Given the description of an element on the screen output the (x, y) to click on. 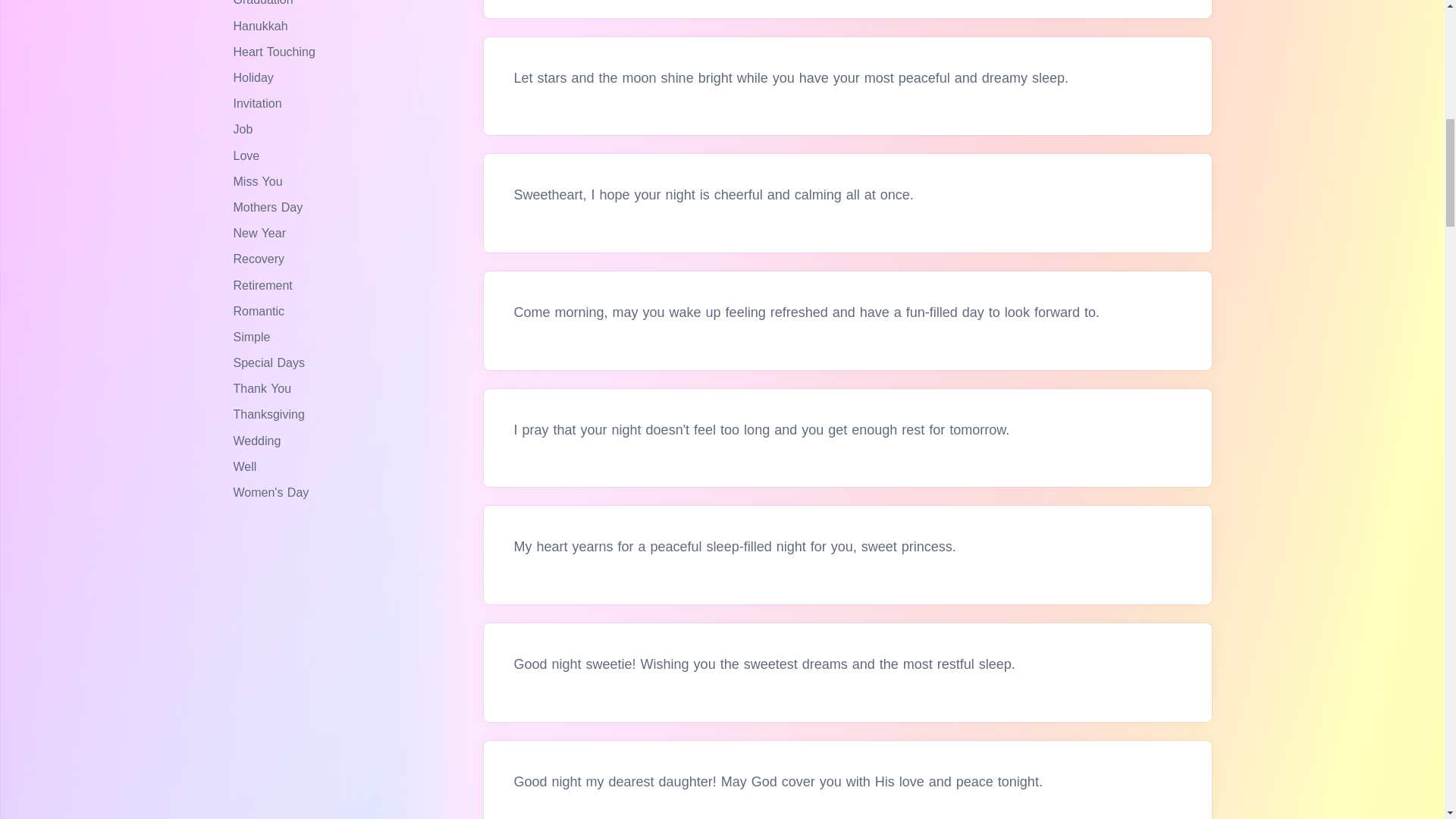
Job (244, 128)
Romantic (260, 310)
Graduation (264, 2)
Retirement (264, 285)
Mothers Day (269, 206)
Recovery (260, 258)
Love (247, 155)
Miss You (259, 181)
Invitation (258, 103)
New Year (260, 232)
Hanukkah (262, 25)
Holiday (255, 77)
Heart Touching (275, 51)
